Given the description of an element on the screen output the (x, y) to click on. 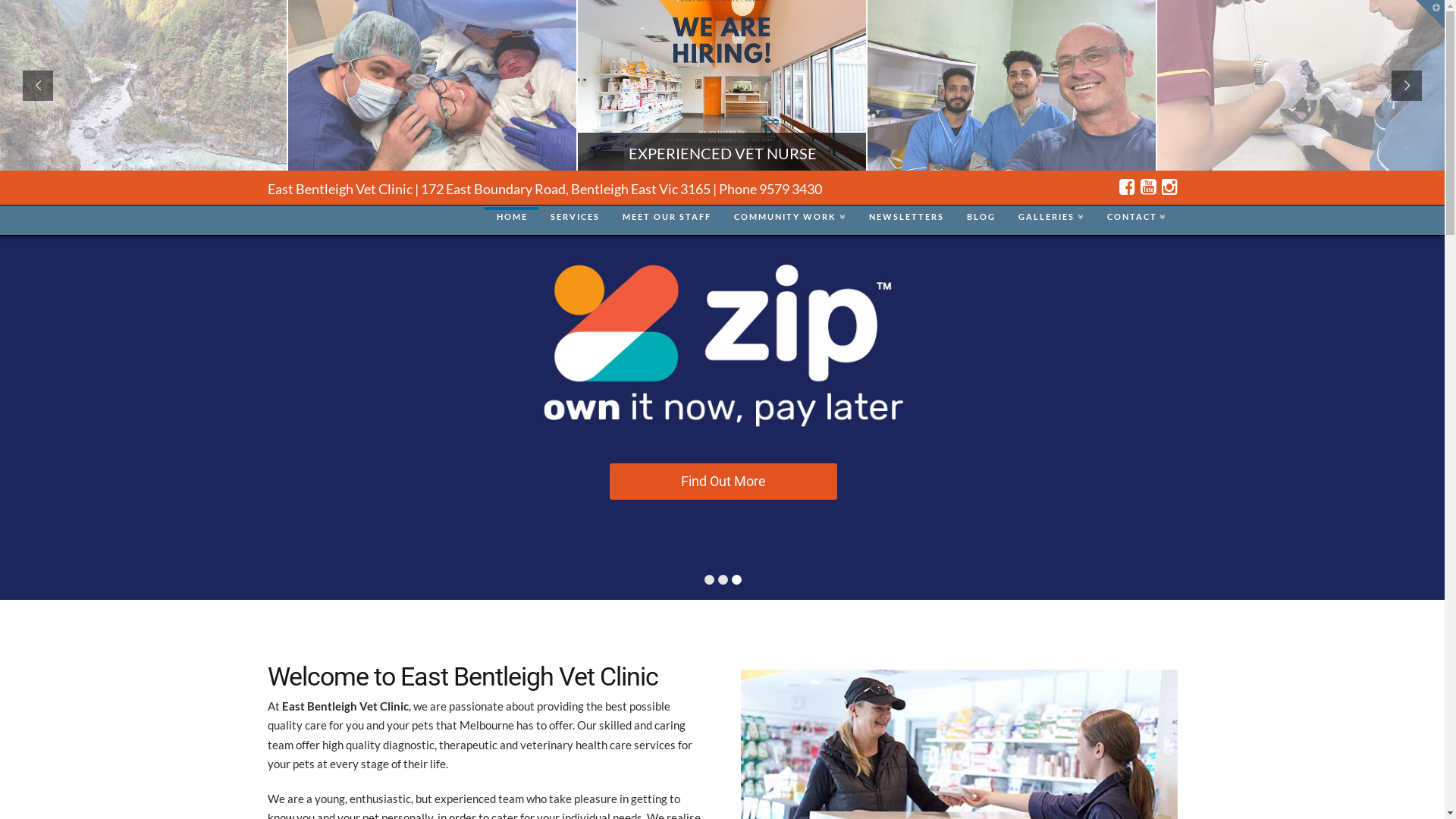
BLOG Element type: text (980, 221)
HOME Element type: text (511, 221)
Instagram Element type: hover (1169, 187)
YouTube Element type: hover (1148, 187)
Facebook Element type: hover (1127, 187)
NEWSLETTERS Element type: text (905, 221)
CONTACT Element type: text (1136, 221)
MEET OUR STAFF Element type: text (665, 221)
GALLERIES Element type: text (1050, 221)
COMMUNITY WORK Element type: text (788, 221)
Toggle the Widgetbar Element type: text (1429, 14)
SERVICES Element type: text (574, 221)
